Given the description of an element on the screen output the (x, y) to click on. 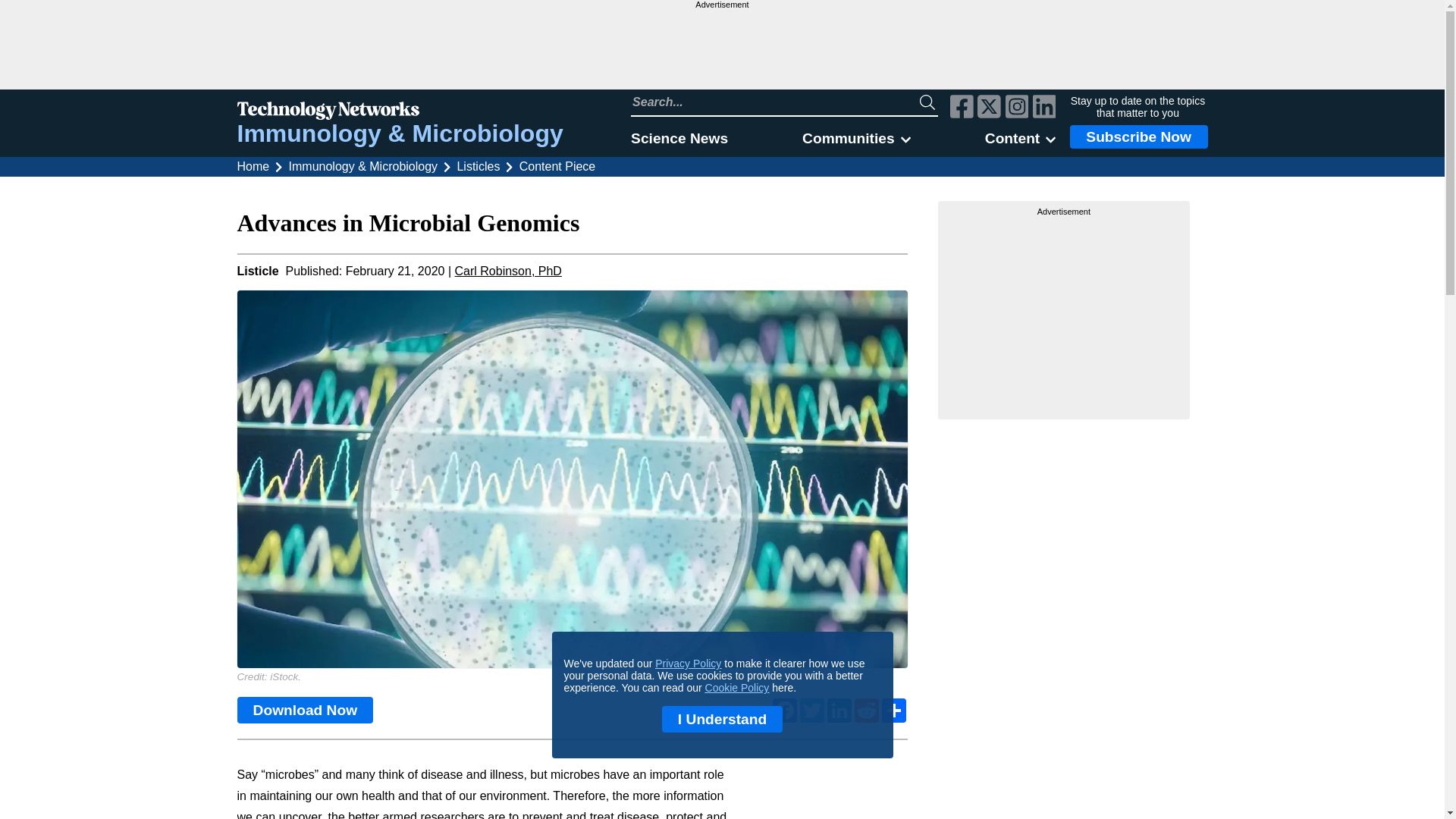
Privacy Policy (687, 663)
3rd party ad content (1063, 312)
Search Technology Networks website input field (775, 102)
Cookie Policy (737, 687)
Technology Networks logo (398, 112)
3rd party ad content (721, 49)
I Understand (722, 718)
